Given the description of an element on the screen output the (x, y) to click on. 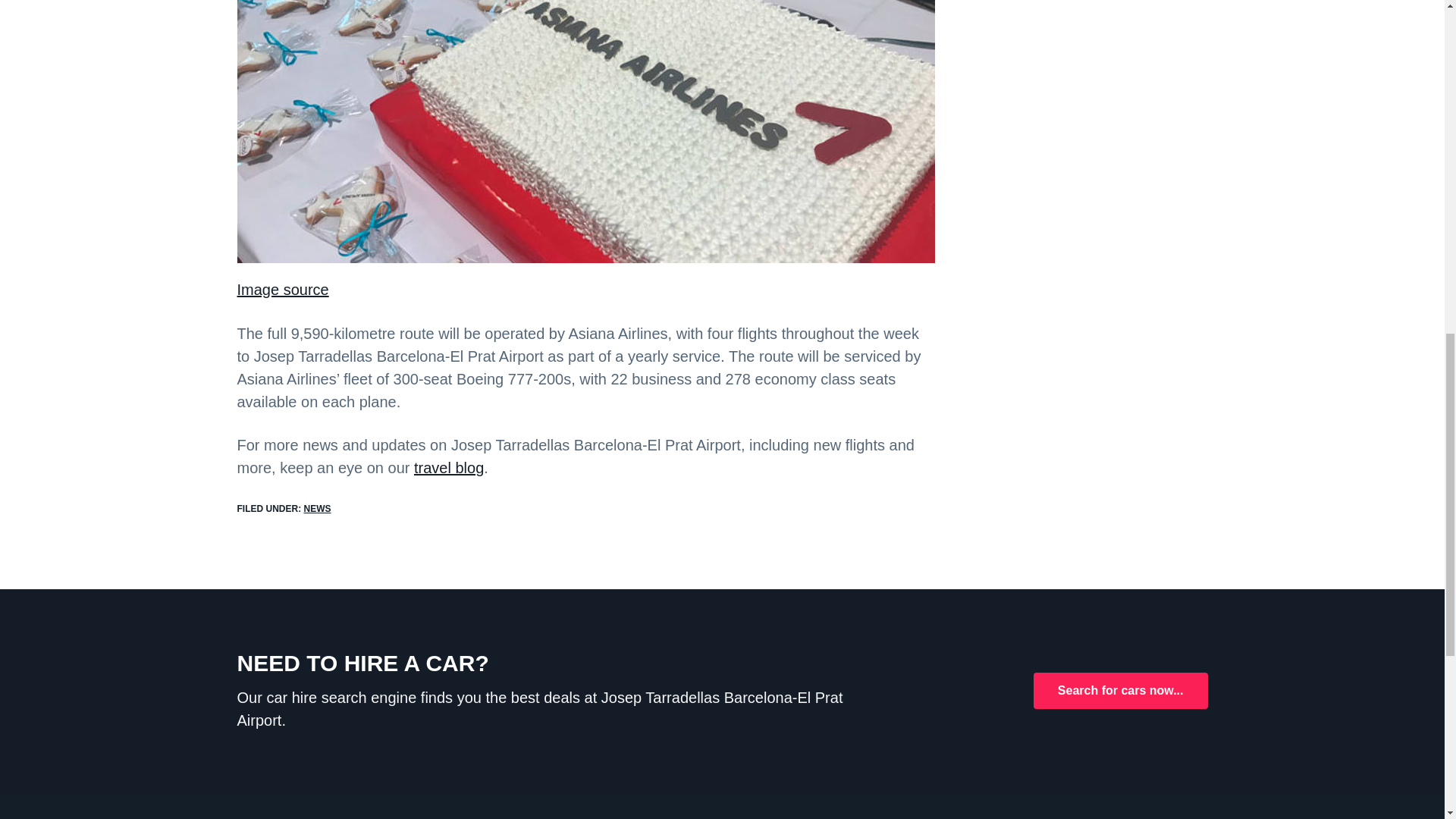
NEWS (316, 508)
Image source (282, 289)
travel blog (448, 467)
